Given the description of an element on the screen output the (x, y) to click on. 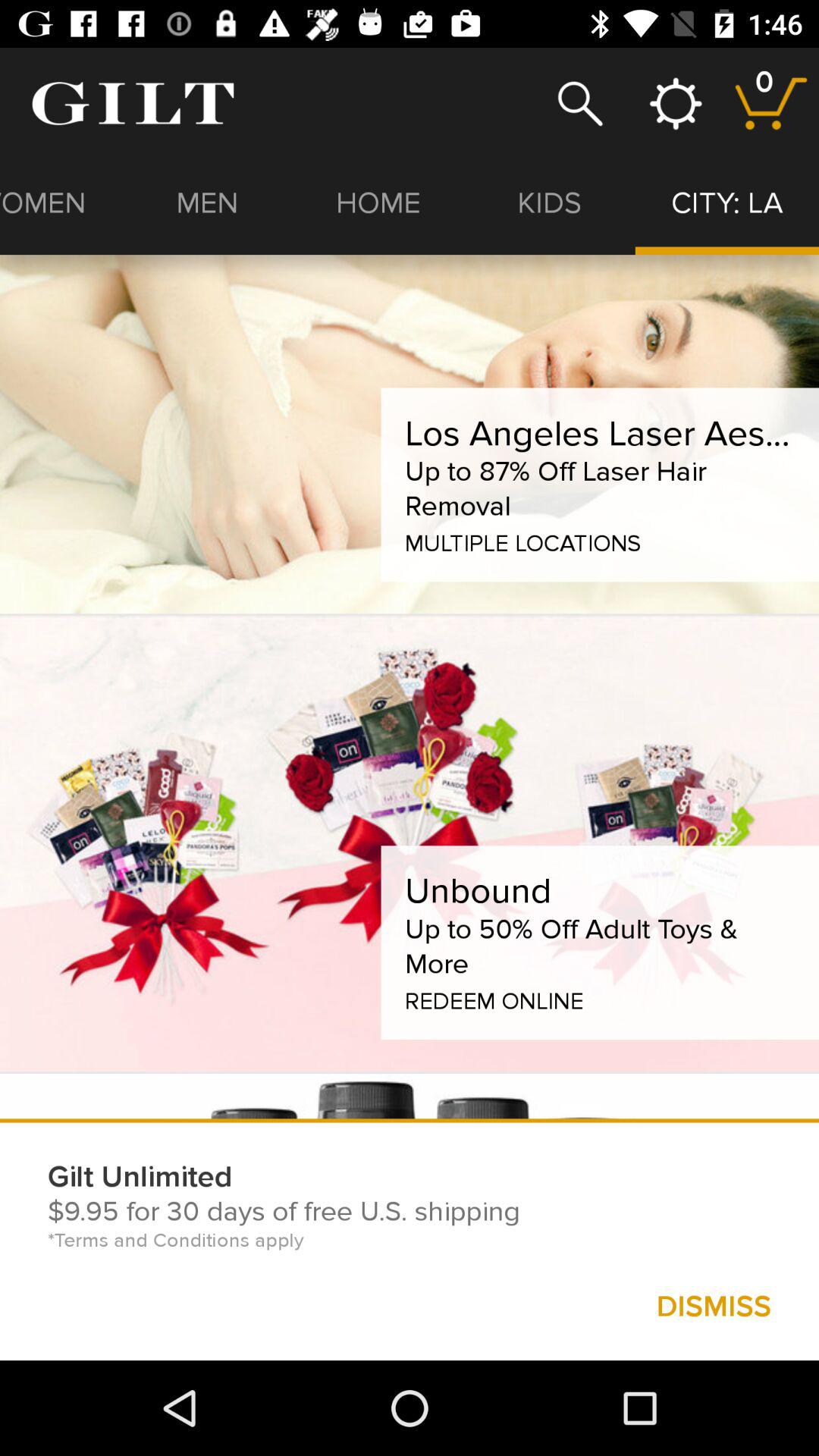
flip until the dismiss item (713, 1306)
